Given the description of an element on the screen output the (x, y) to click on. 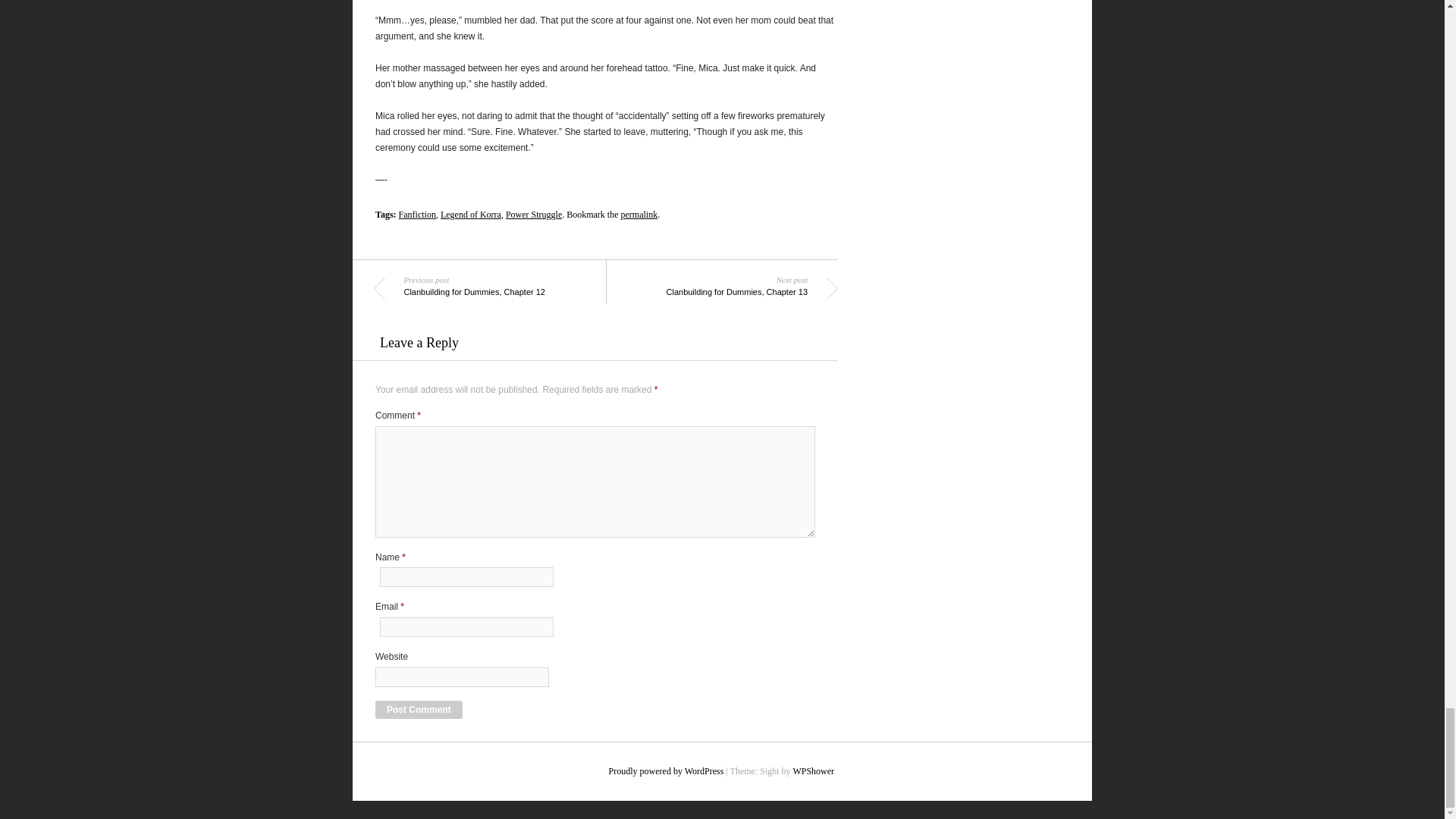
Legend of Korra (712, 284)
Fanfiction (470, 214)
A Semantic Personal Publishing Platform (416, 214)
permalink (497, 284)
Post Comment (665, 770)
Post Comment (639, 214)
Power Struggle (419, 710)
